Given the description of an element on the screen output the (x, y) to click on. 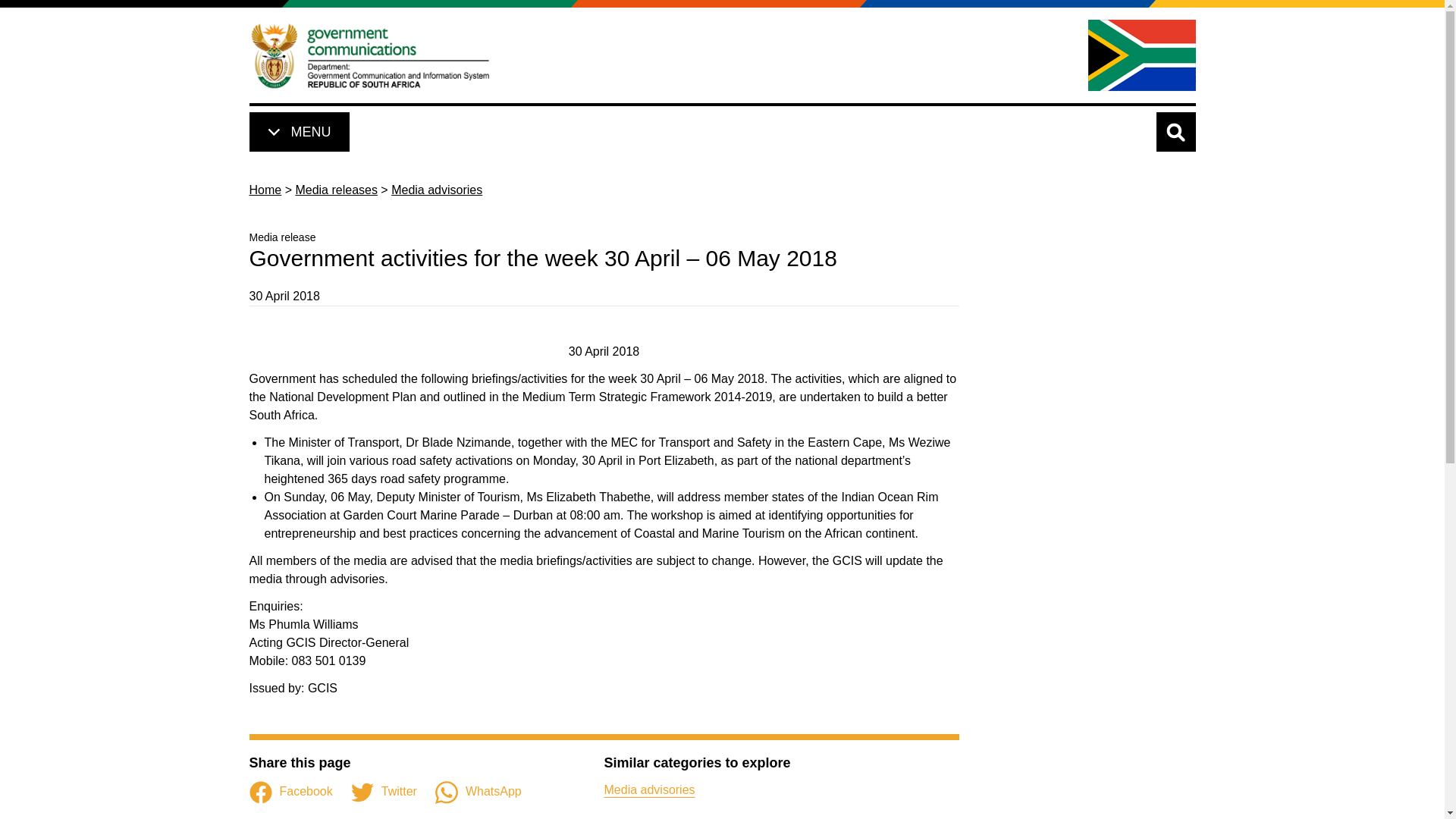
Media advisories (649, 789)
Home (370, 54)
Share on Twitter (383, 792)
Share on Facebook (289, 792)
Home (264, 189)
Twitter (383, 792)
MENU (298, 131)
Media releases (336, 189)
Facebook (289, 792)
WhatsApp (478, 792)
